Given the description of an element on the screen output the (x, y) to click on. 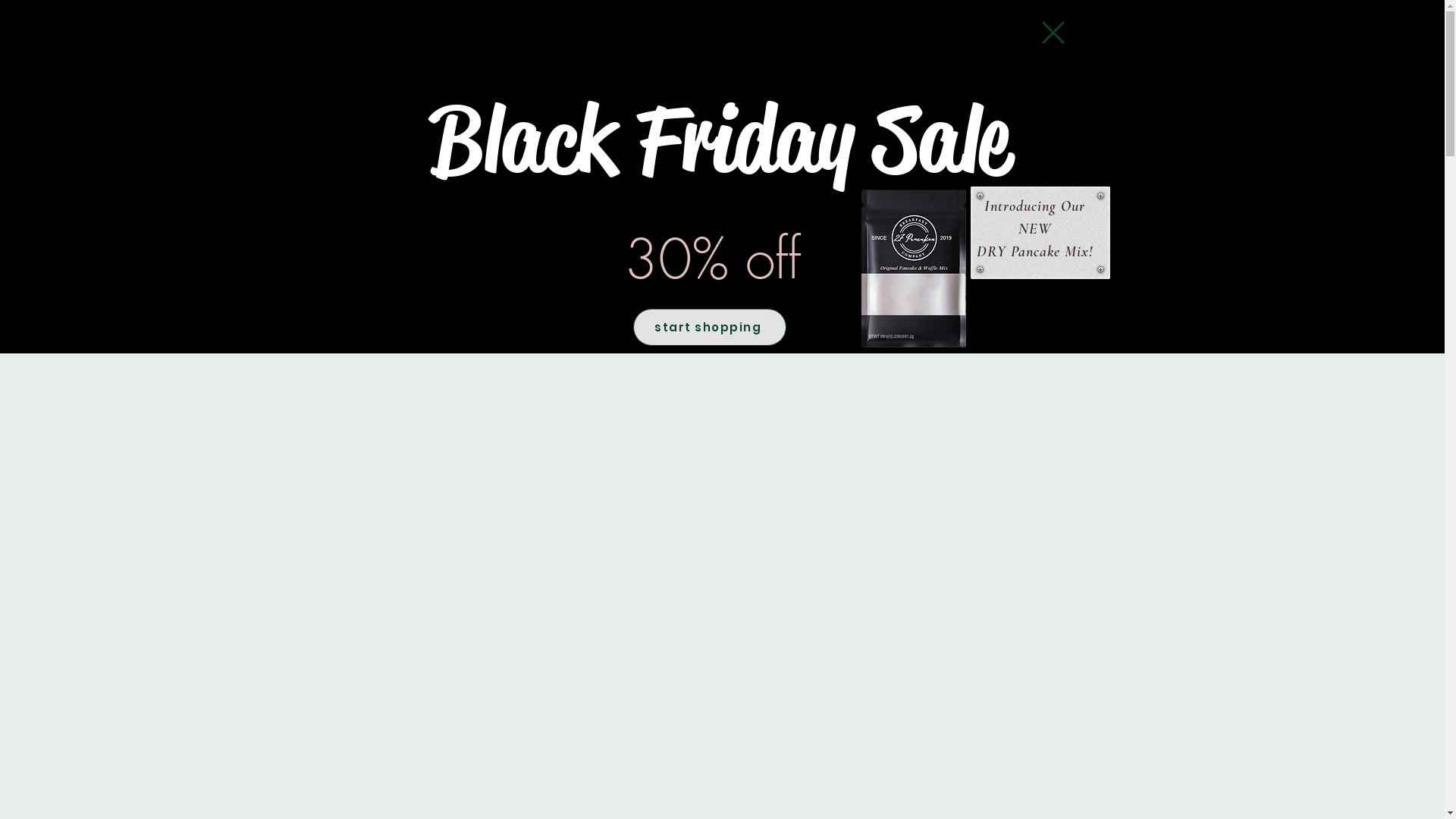
Loyalty Element type: text (1378, 8)
Contact Us Element type: text (1071, 8)
Pancake Boards & Boxes Element type: text (599, 8)
The 27 Flavors Element type: text (1229, 8)
Find Us Element type: text (929, 8)
Truck Visit Request Element type: text (396, 8)
Admin@27pancakes.com Element type: text (982, 492)
Home Element type: text (63, 8)
Back to site Element type: hover (1052, 32)
e-Gift Cards Element type: text (784, 8)
Pancake Batters Element type: text (213, 8)
start shopping Element type: text (708, 326)
